Given the description of an element on the screen output the (x, y) to click on. 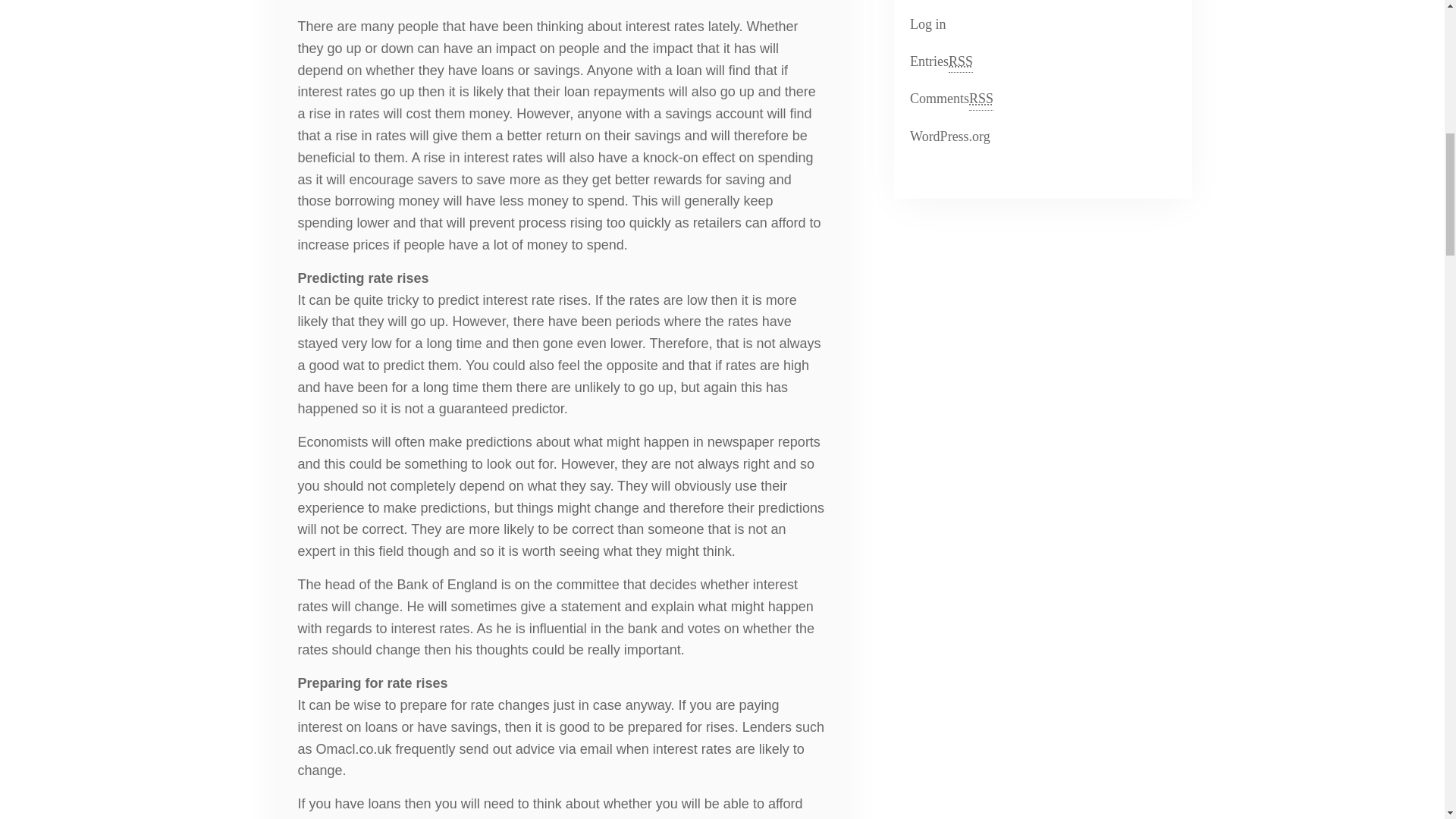
Omacl.co.uk (353, 749)
Really Simple Syndication (980, 98)
WordPress.org (948, 98)
Log in (947, 137)
Really Simple Syndication (925, 24)
